Given the description of an element on the screen output the (x, y) to click on. 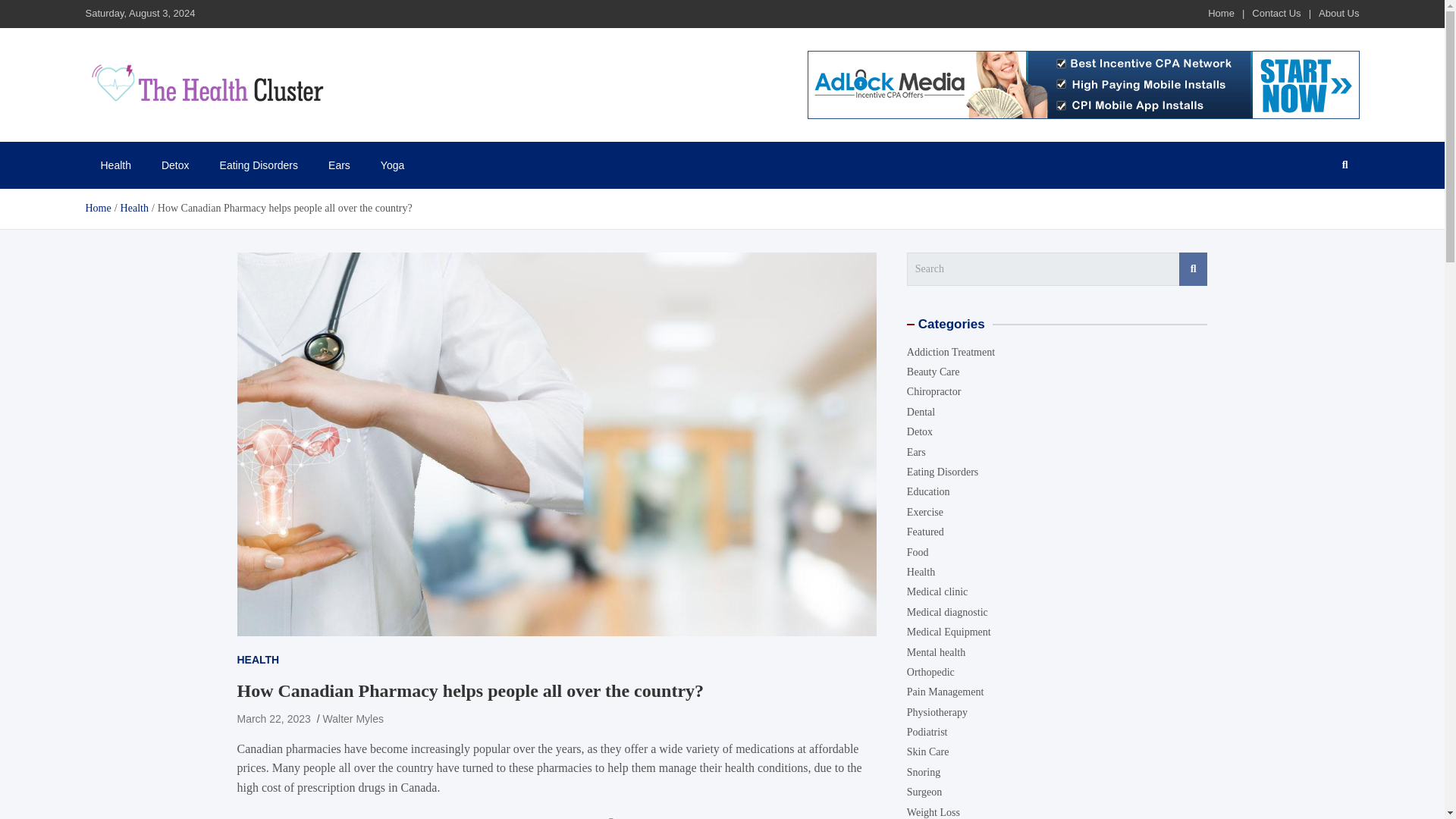
Home (1221, 12)
Detox (176, 165)
Contact Us (1276, 12)
Walter Myles (353, 718)
Addiction Treatment (950, 351)
About Us (1338, 12)
Dental (920, 411)
HEALTH (257, 659)
Yoga (392, 165)
Health (114, 165)
